Given the description of an element on the screen output the (x, y) to click on. 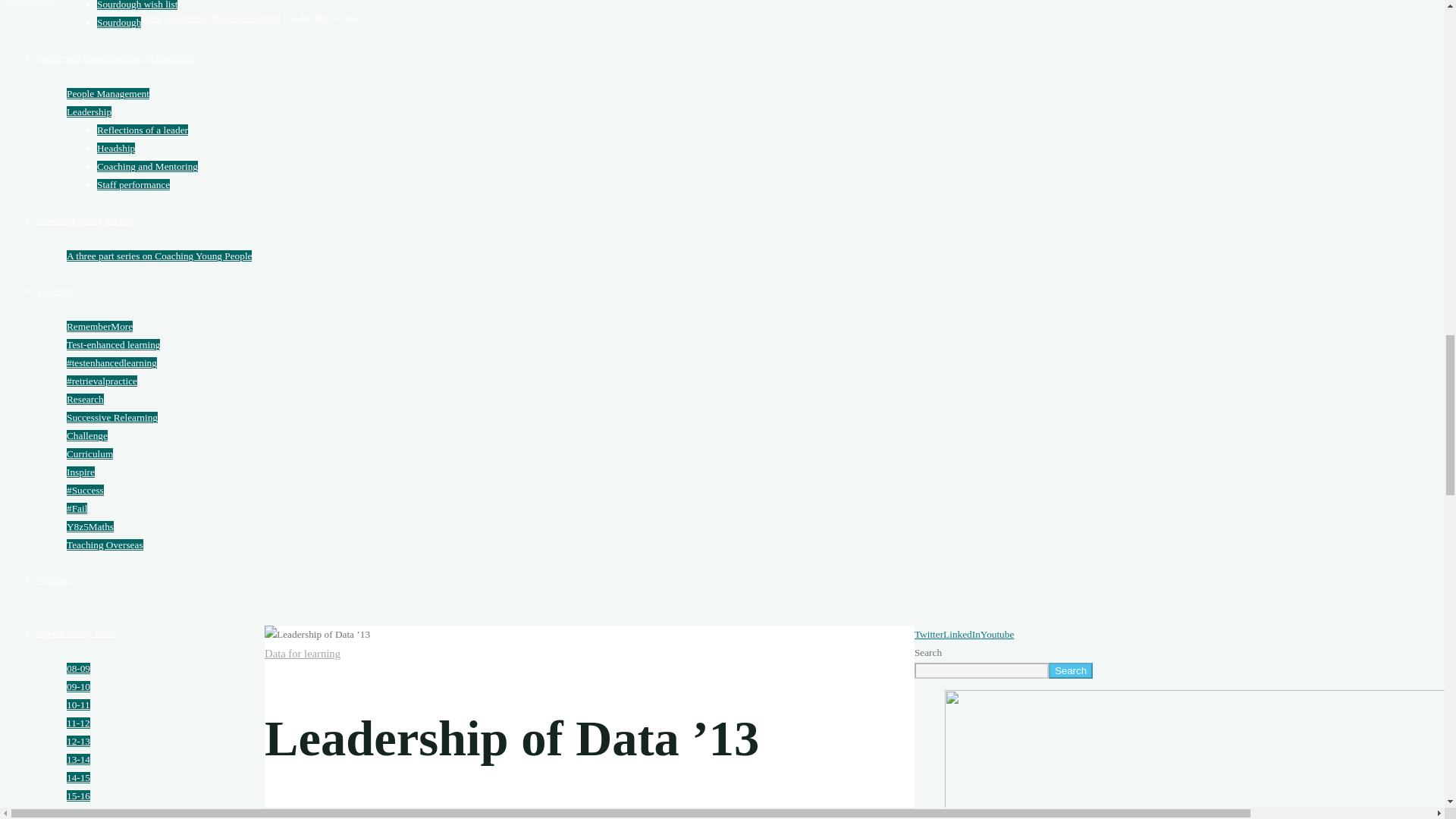
View all posts by Kristian Still (31, 2)
Home (148, 17)
View all posts by Kristian Still (289, 817)
